Given the description of an element on the screen output the (x, y) to click on. 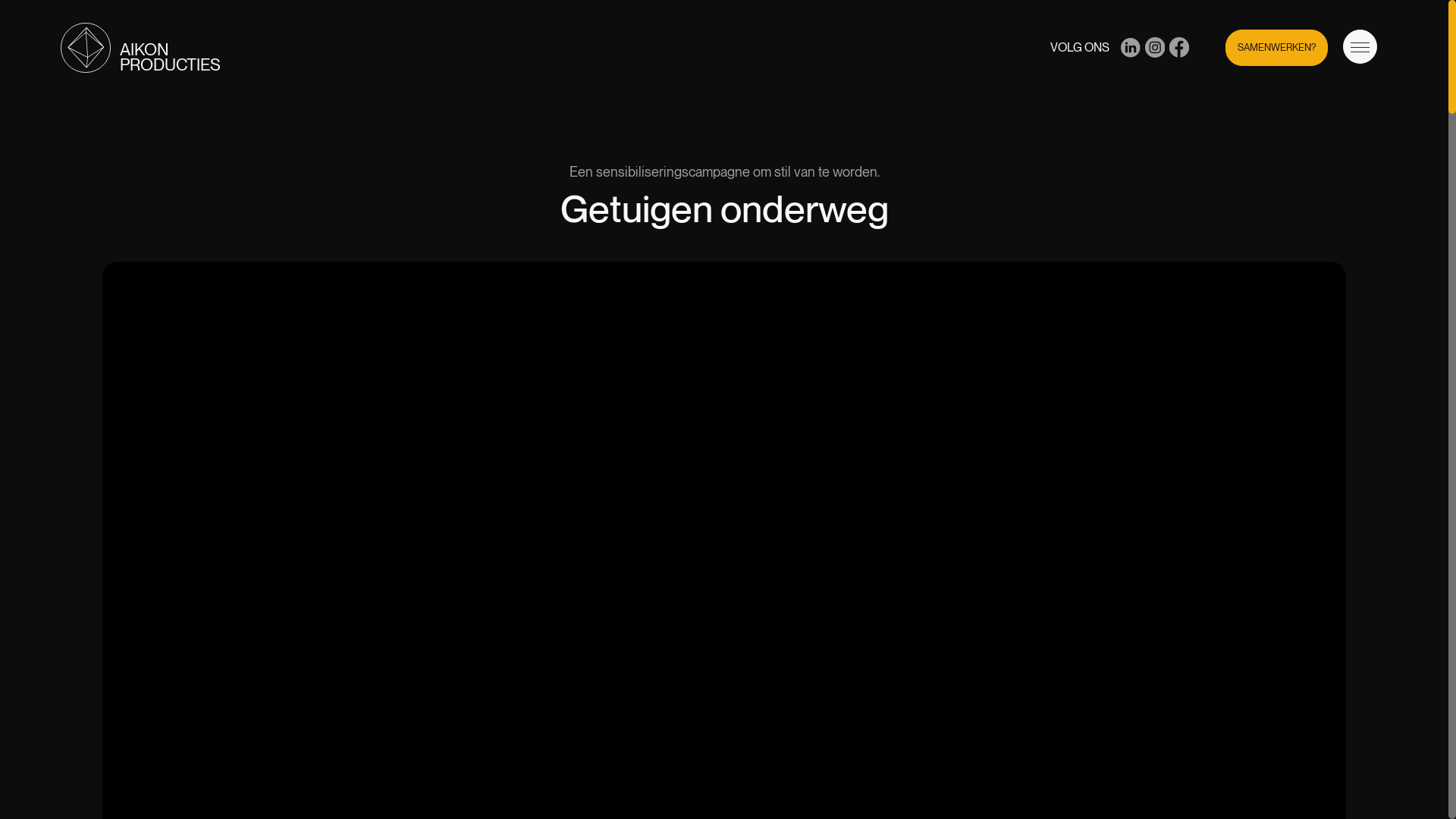
SAMENWERKEN? Element type: text (1276, 47)
AIKON
PRODUCTIES Element type: text (140, 47)
